Given the description of an element on the screen output the (x, y) to click on. 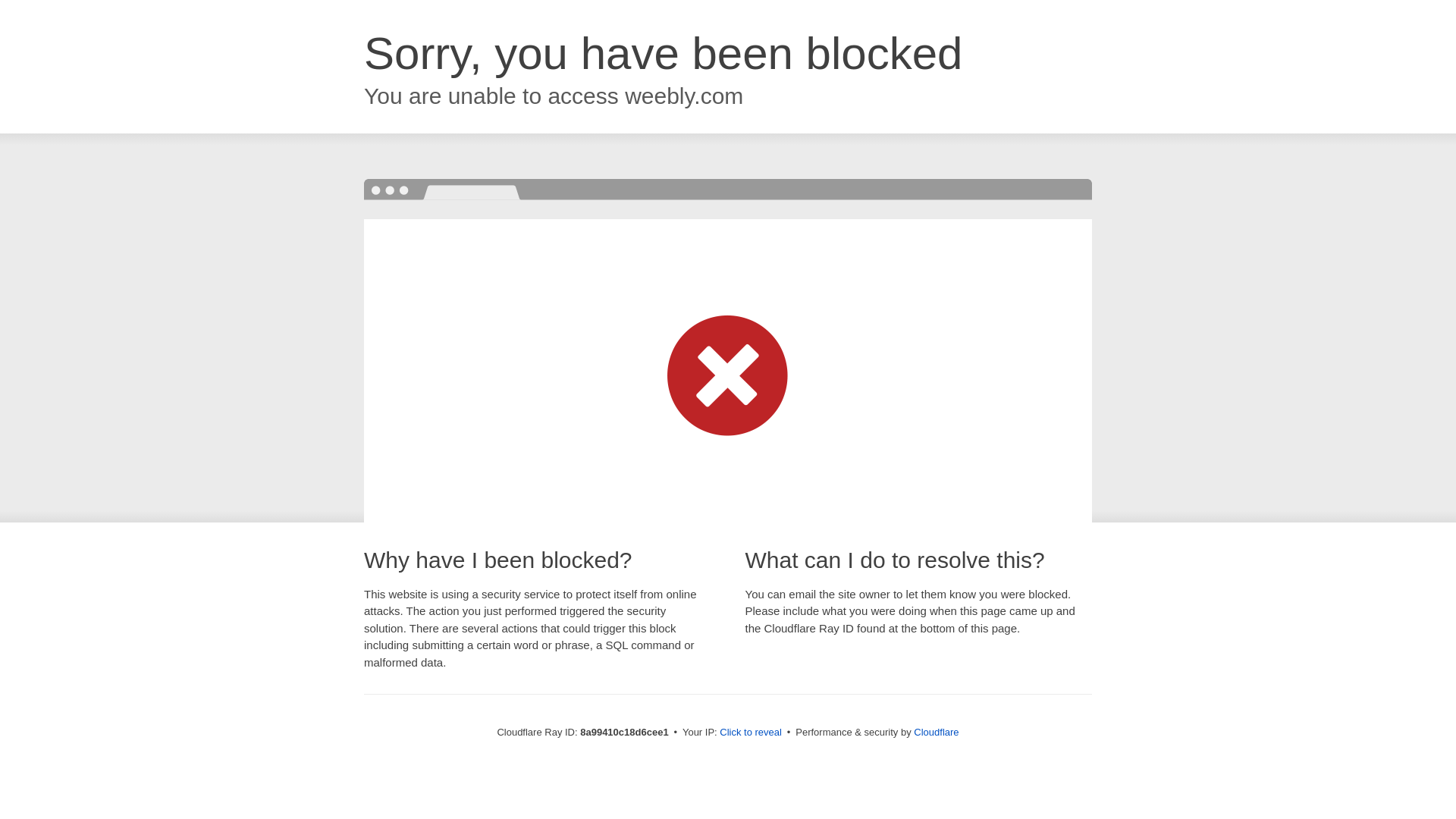
Click to reveal (750, 732)
Cloudflare (936, 731)
